Given the description of an element on the screen output the (x, y) to click on. 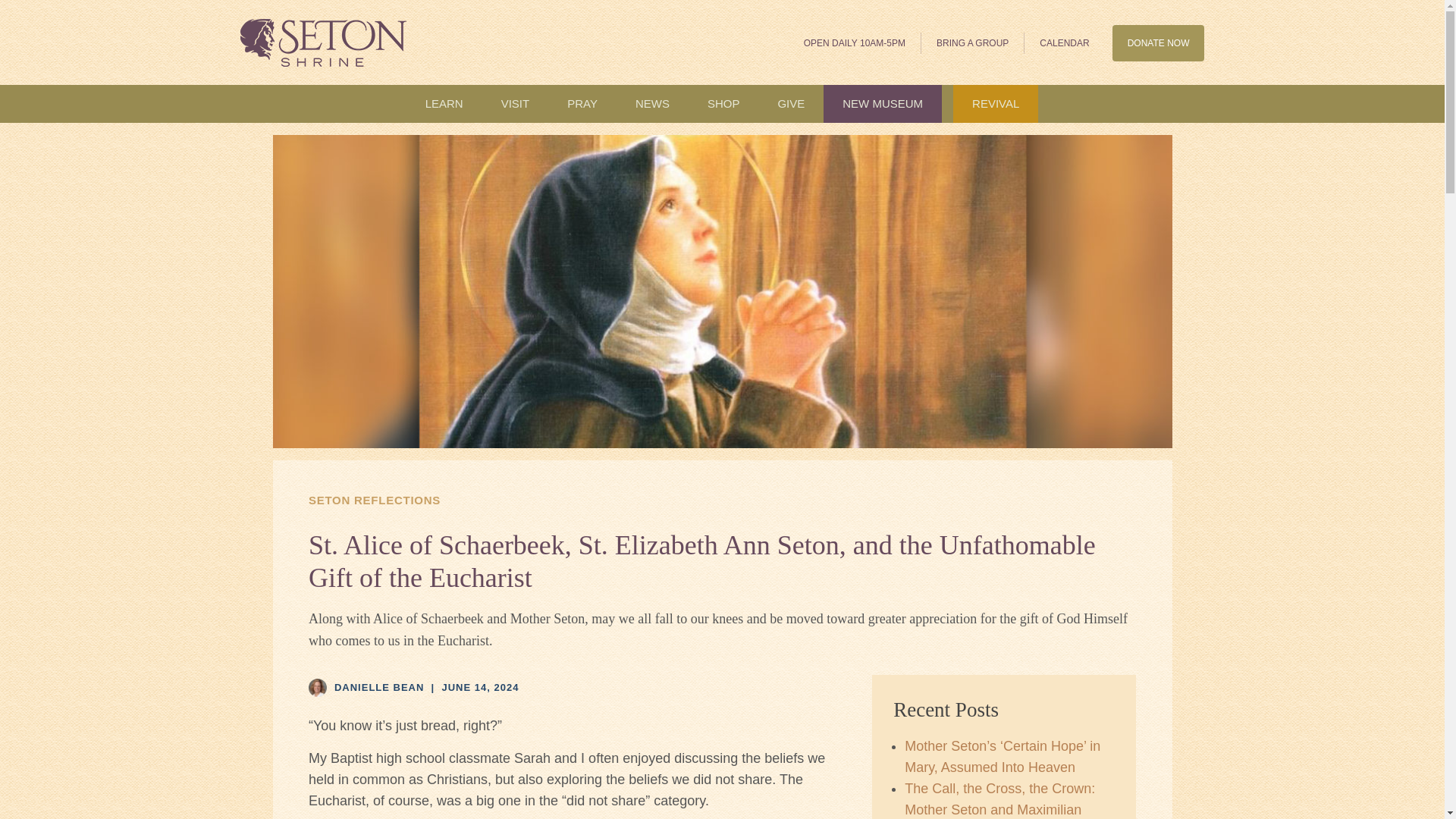
BRING A GROUP (973, 42)
OPEN DAILY 10AM-5PM (855, 42)
PRAY (581, 103)
CALENDAR (1064, 42)
DONATE NOW (1158, 42)
LEARN (443, 103)
View all posts by Danielle Bean (378, 686)
VISIT (514, 103)
